Given the description of an element on the screen output the (x, y) to click on. 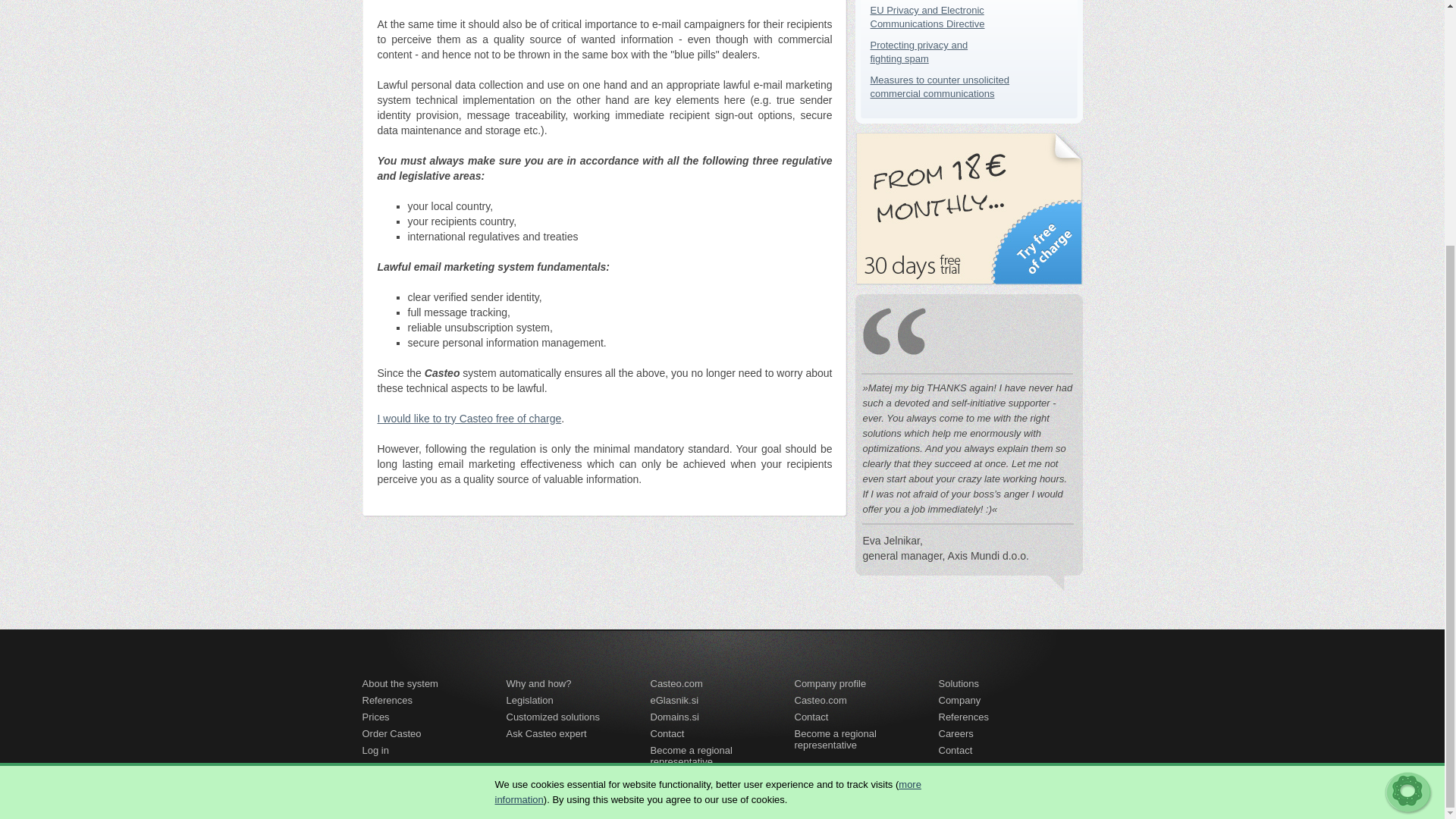
I would like to try Casteo free of charge (469, 418)
Contact (955, 752)
Log in (375, 752)
Ask Casteo expert (546, 736)
Customized solutions (552, 719)
Contact (667, 736)
Legislation (529, 702)
Company (940, 86)
Become a regional representative (960, 702)
Prices (866, 736)
Solutions (376, 719)
Contact (958, 686)
Careers (811, 719)
eGlasnik.si (956, 736)
